Given the description of an element on the screen output the (x, y) to click on. 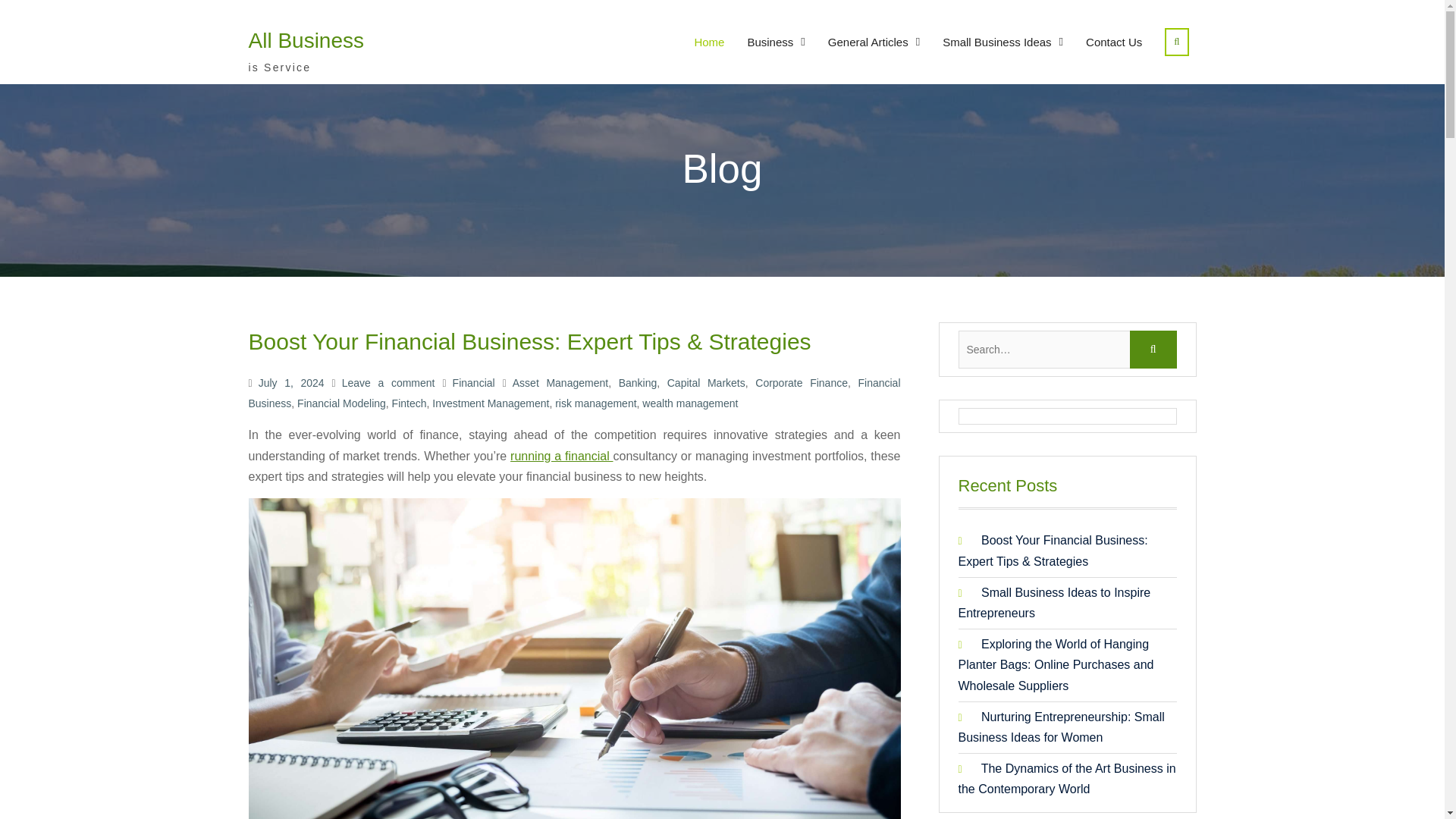
All Business (306, 40)
General Articles (873, 42)
Contact Us (1113, 42)
Search for: (1067, 349)
Small Business Ideas (1002, 42)
Business (775, 42)
